Given the description of an element on the screen output the (x, y) to click on. 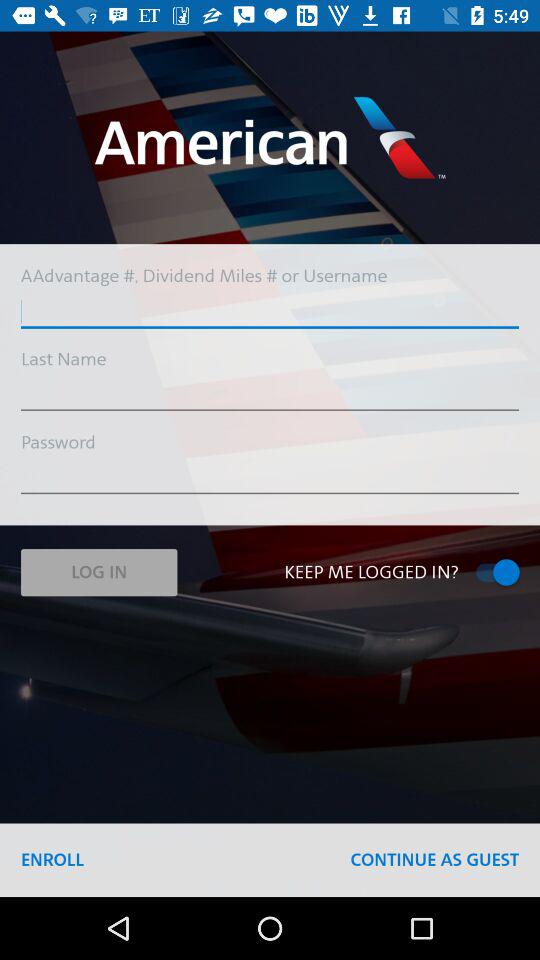
press the item next to continue as guest icon (52, 859)
